Given the description of an element on the screen output the (x, y) to click on. 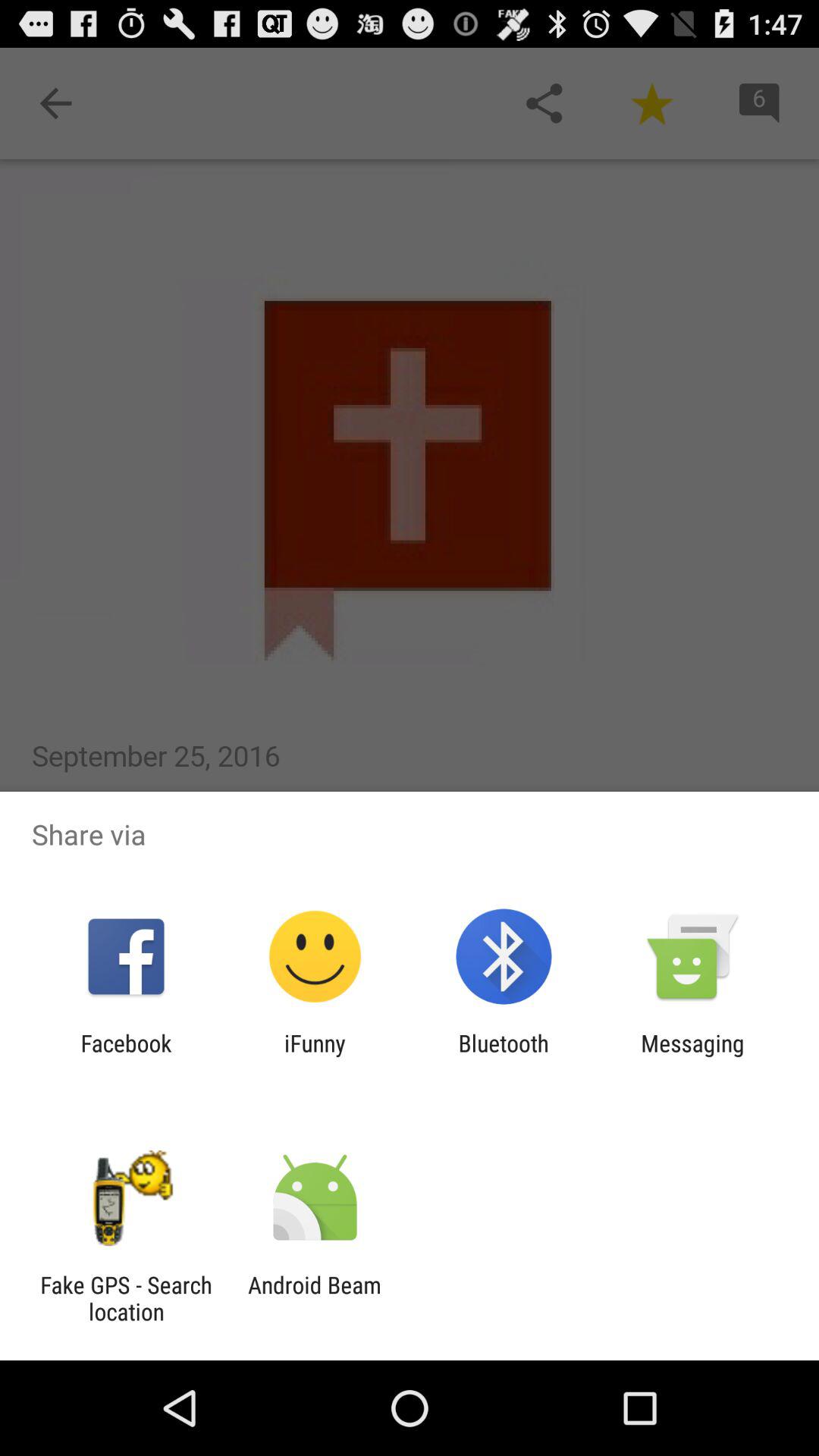
press the item next to the ifunny (125, 1056)
